Given the description of an element on the screen output the (x, y) to click on. 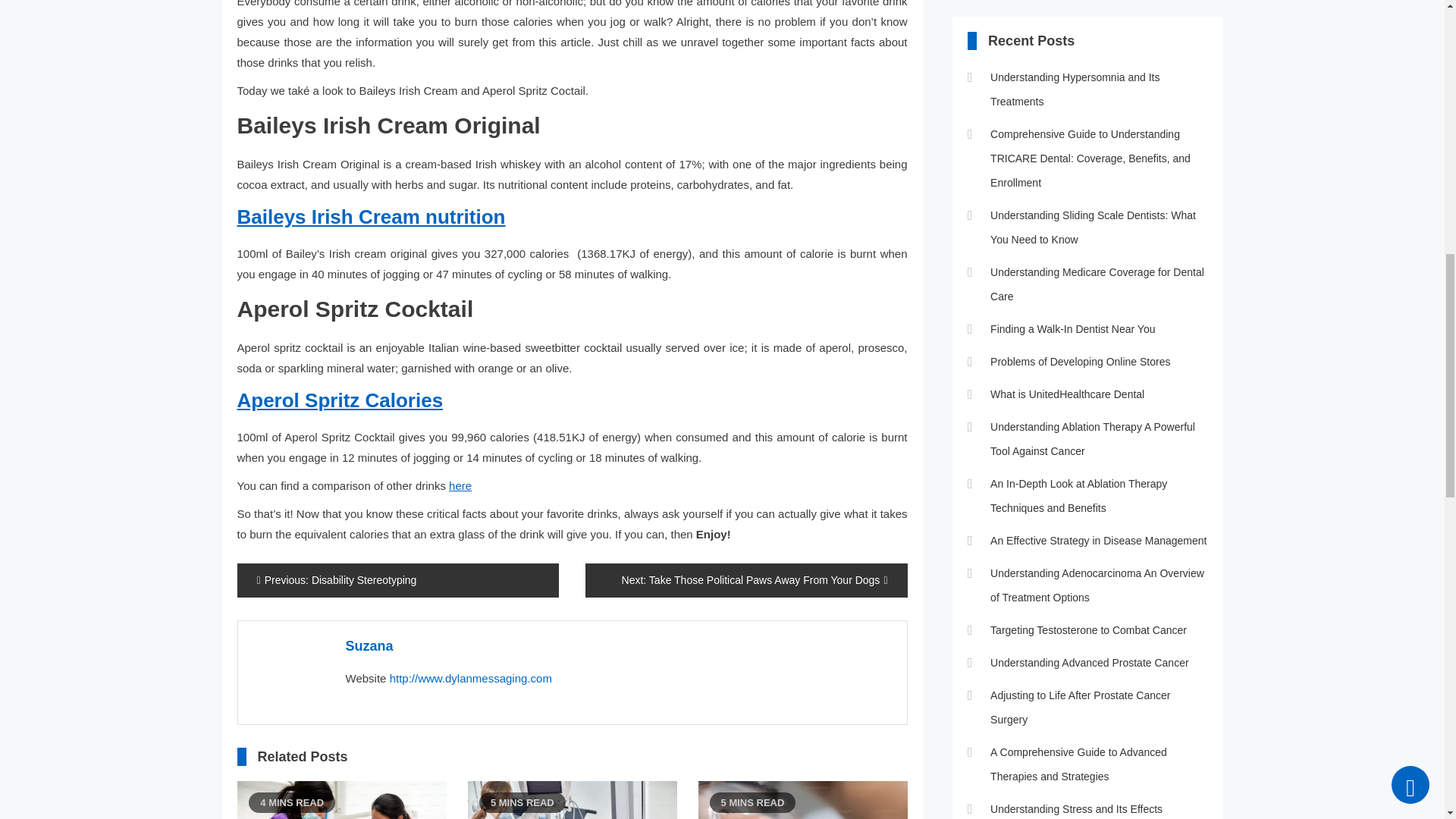
Understanding Adult Medicaid Dental Coverage (802, 800)
Gastric Bypass: The Classic Approach (572, 800)
Understanding Sliding Scale Dentists: What You Need to Know (341, 800)
Posts by Suzana (369, 645)
